Given the description of an element on the screen output the (x, y) to click on. 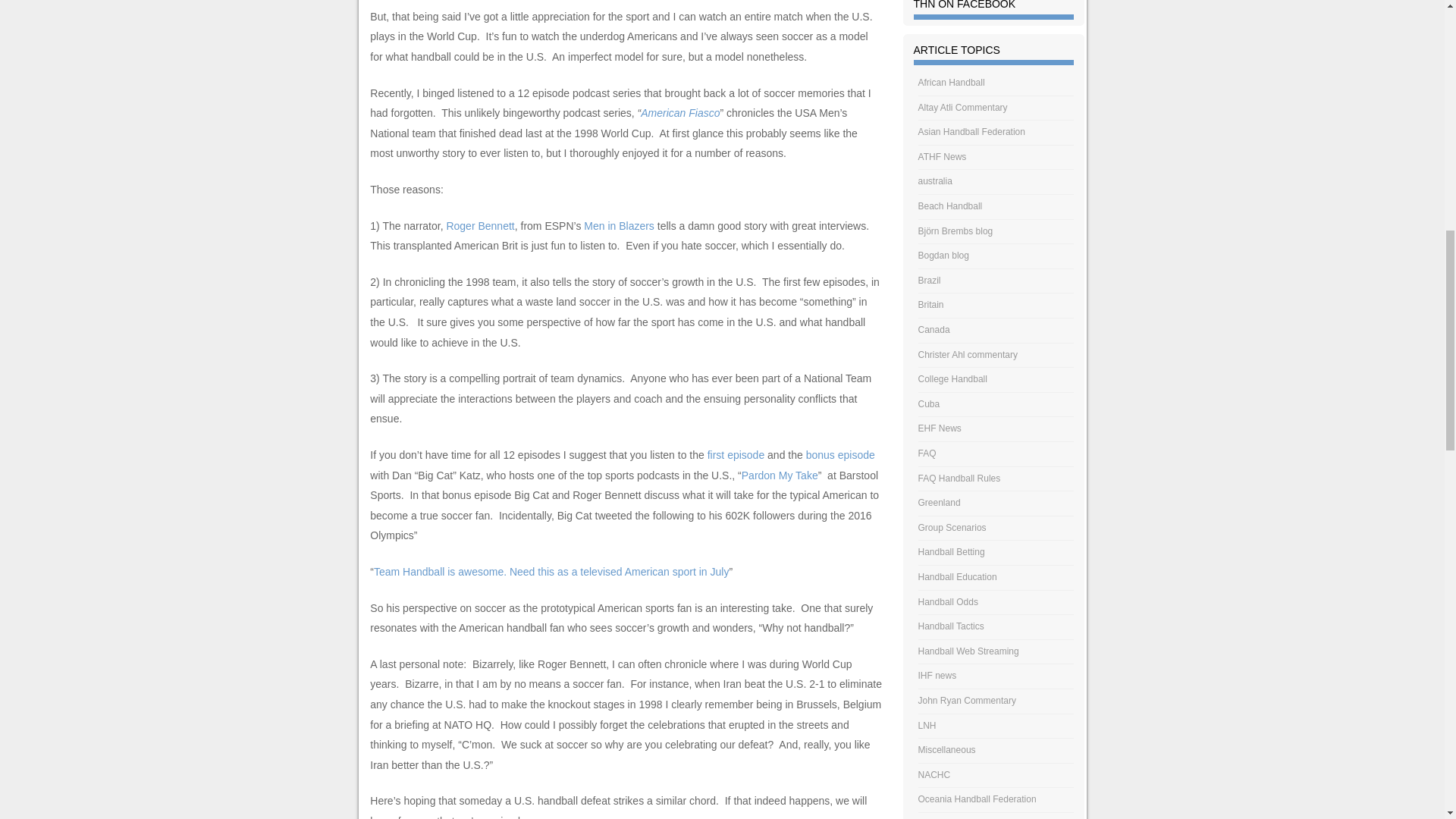
Roger Bennett (479, 225)
Men in Blazers (618, 225)
first episode (735, 454)
African Handball (951, 81)
bonus episode (839, 454)
Pardon My Take (779, 475)
American Fiasco (679, 112)
Altay Atli Commentary (962, 107)
